Given the description of an element on the screen output the (x, y) to click on. 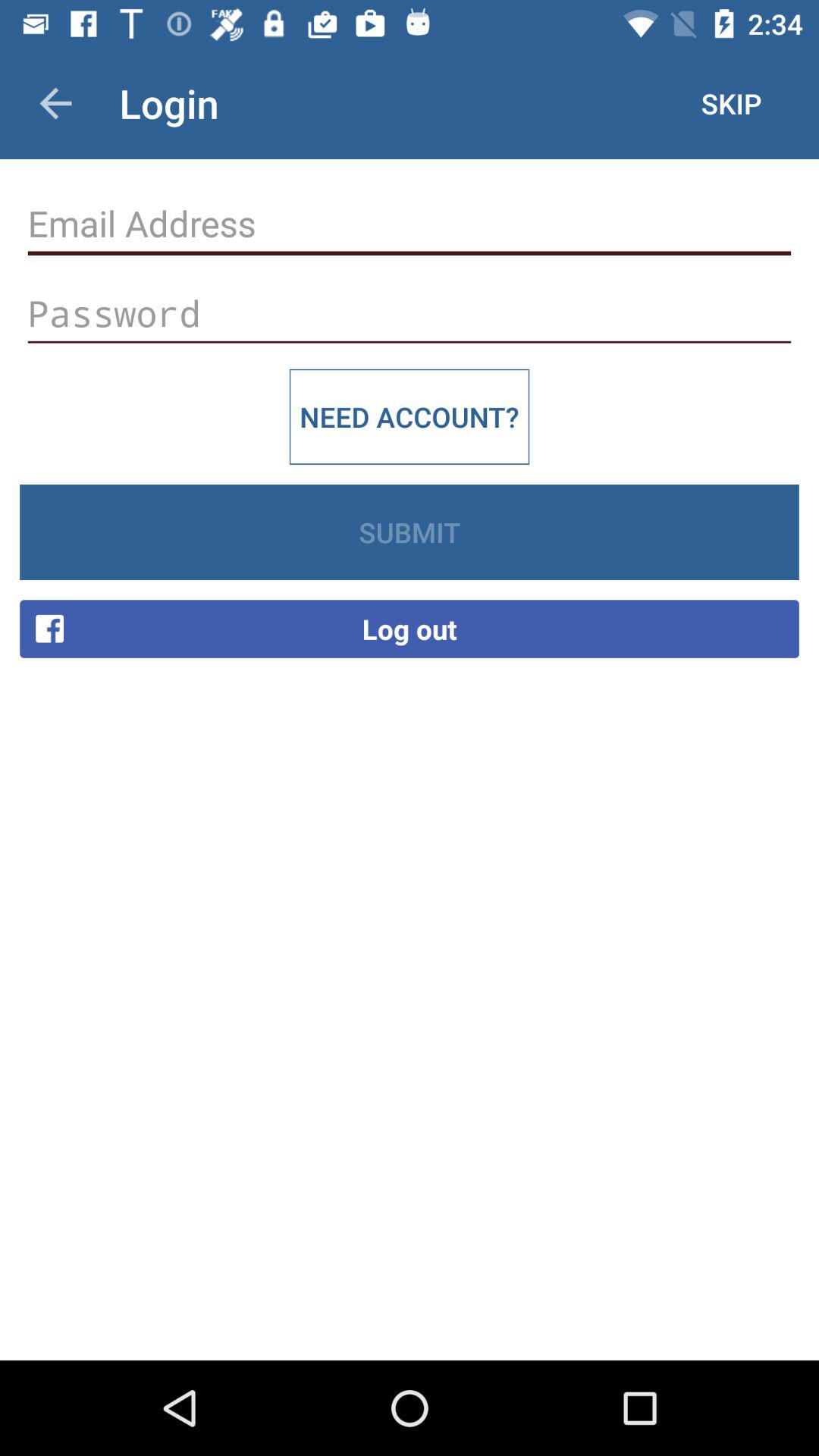
swipe to the skip icon (731, 103)
